Given the description of an element on the screen output the (x, y) to click on. 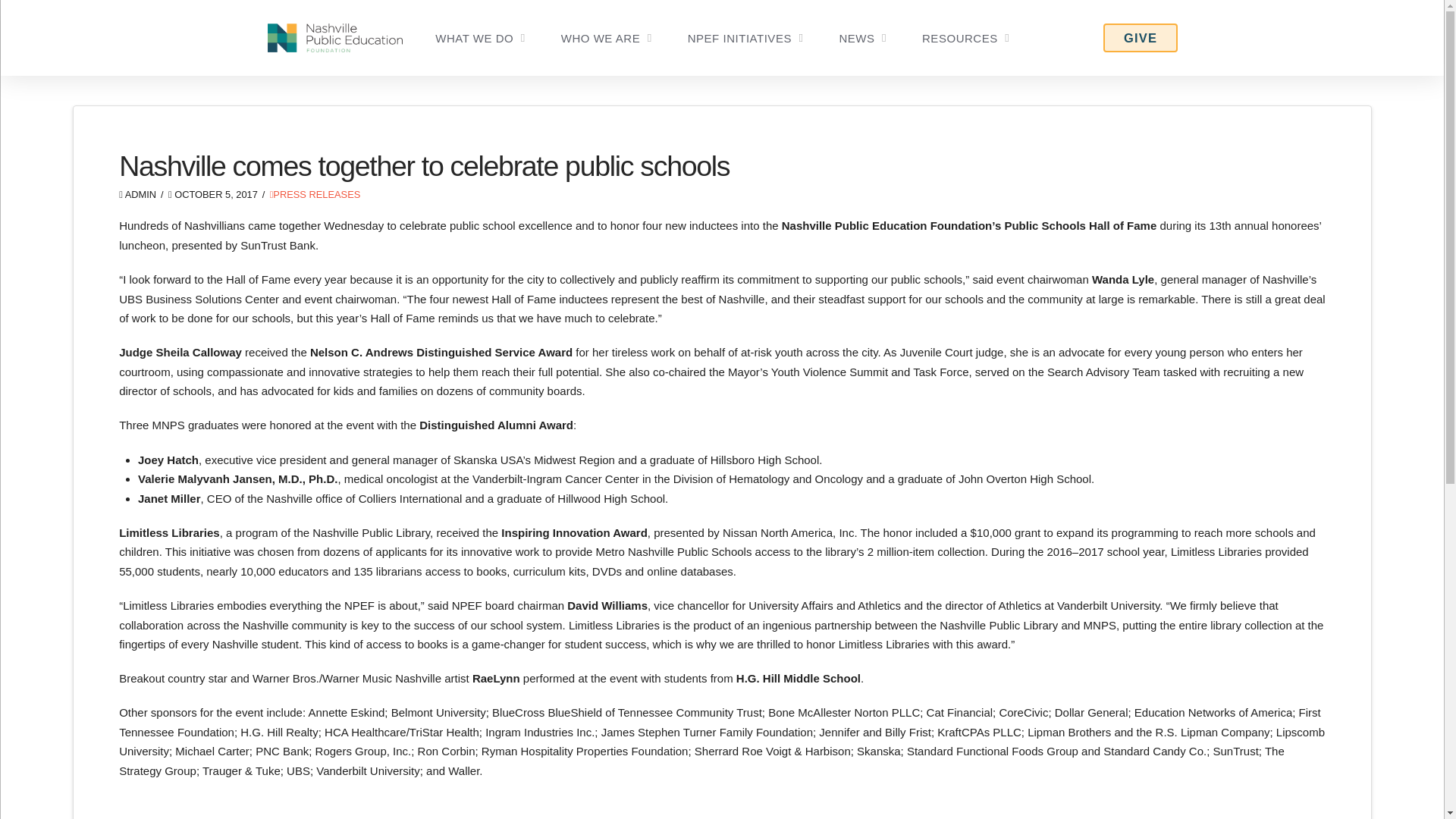
PRESS RELEASES (315, 194)
NEWS (862, 38)
NPEF INITIATIVES (745, 38)
RESOURCES (965, 38)
WHAT WE DO (480, 38)
GIVE (1140, 38)
WHO WE ARE (606, 38)
